Given the description of an element on the screen output the (x, y) to click on. 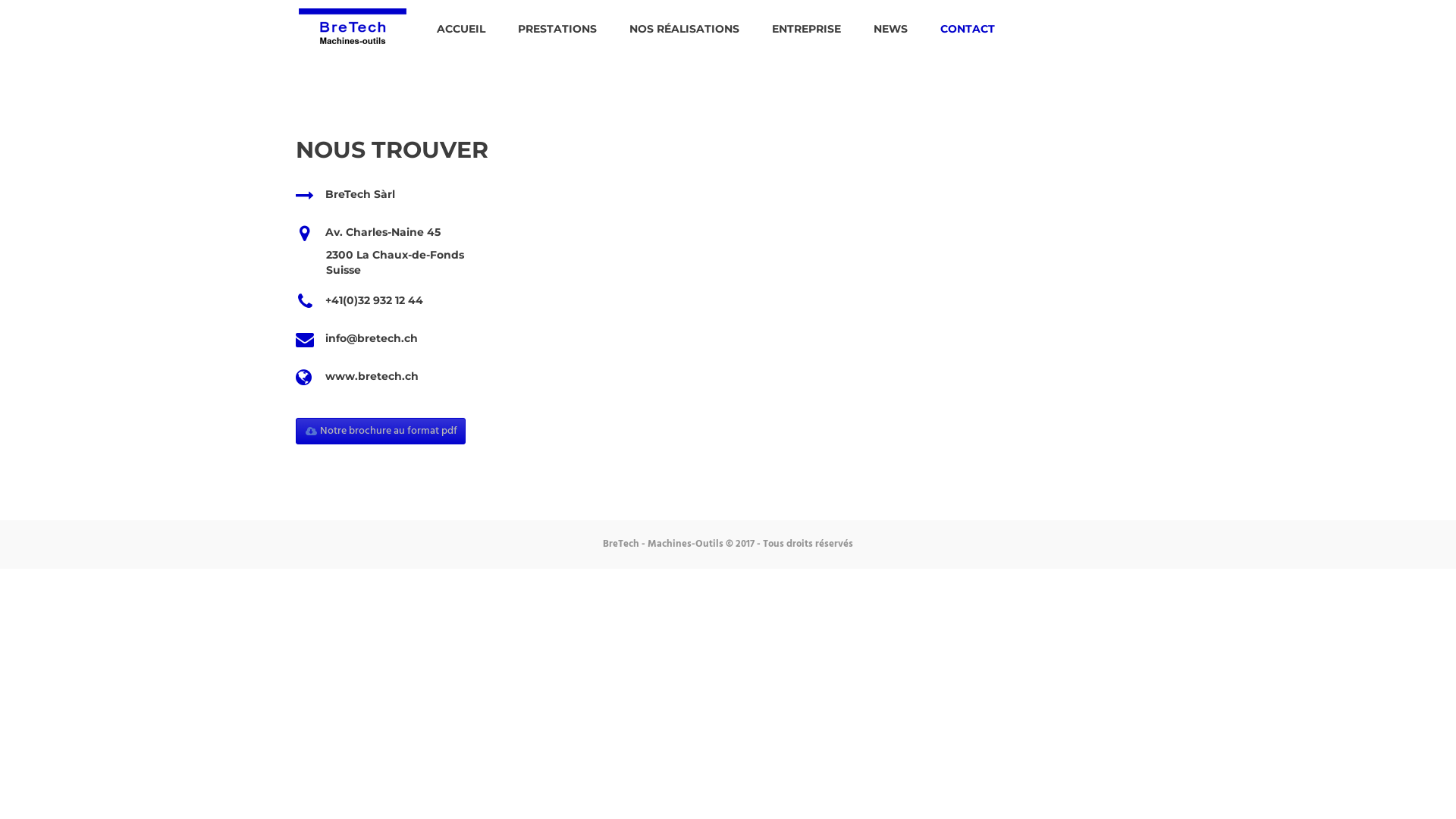
BreTech Element type: hover (352, 24)
ENTREPRISE Element type: text (806, 28)
PRESTATIONS Element type: text (556, 28)
NEWS Element type: text (890, 28)
ACCUEIL Element type: text (460, 28)
Notre brochure au format pdf Element type: text (380, 430)
CONTACT Element type: text (967, 28)
